Given the description of an element on the screen output the (x, y) to click on. 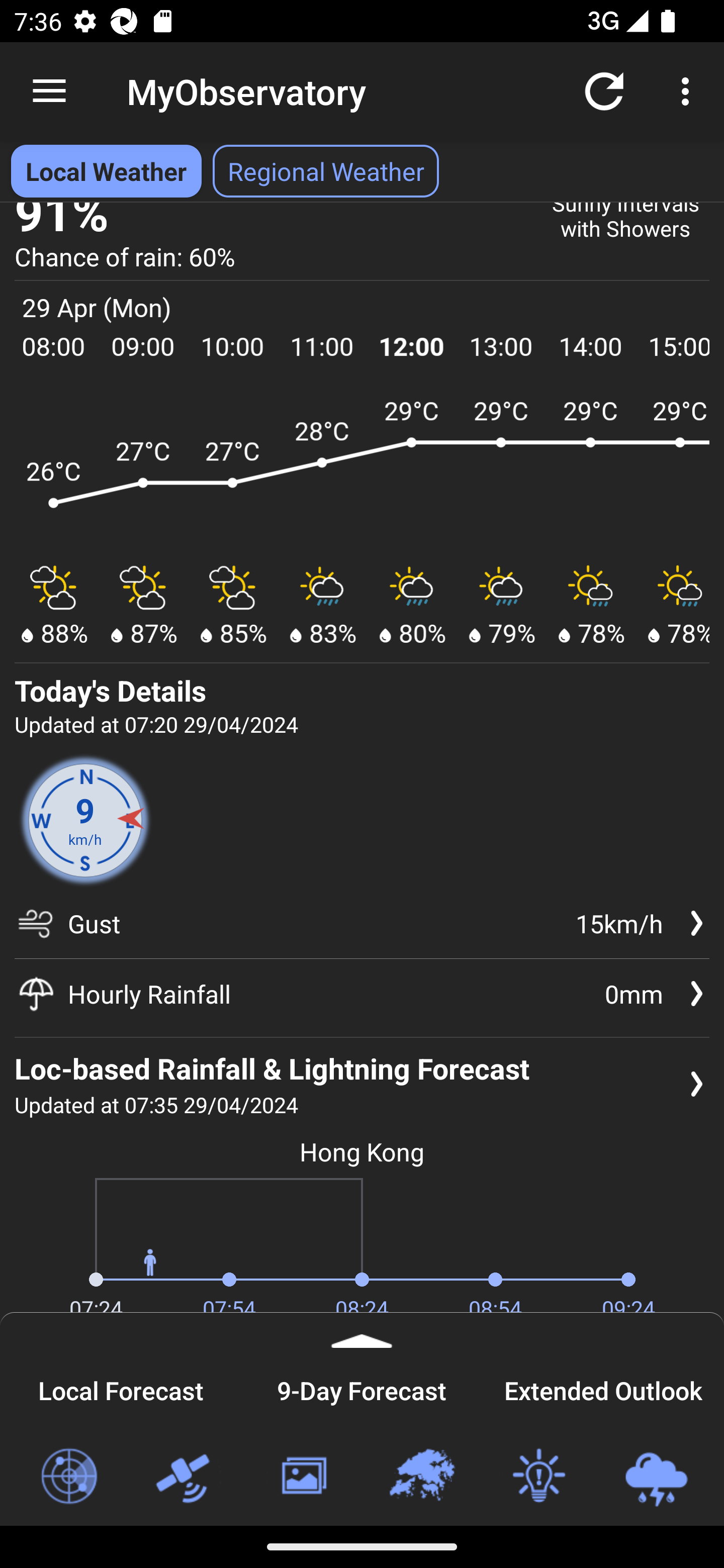
Navigate up (49, 91)
Refresh (604, 90)
More options (688, 90)
Local Weather Local Weather selected (105, 170)
Regional Weather Select Regional Weather (325, 170)
ARWF (361, 470)
Gust 15km/h Gust 15km/h (361, 930)
Hourly Rainfall 0mm Hourly Rainfall 0mm (361, 993)
Expand (362, 1330)
Local Forecast (120, 1387)
Extended Outlook (603, 1387)
Radar Images (68, 1476)
Satellite Images (185, 1476)
Weather Photos (302, 1476)
Regional Weather (420, 1476)
Weather Tips (537, 1476)
Loc-based Rain & Lightning Forecast (655, 1476)
